Given the description of an element on the screen output the (x, y) to click on. 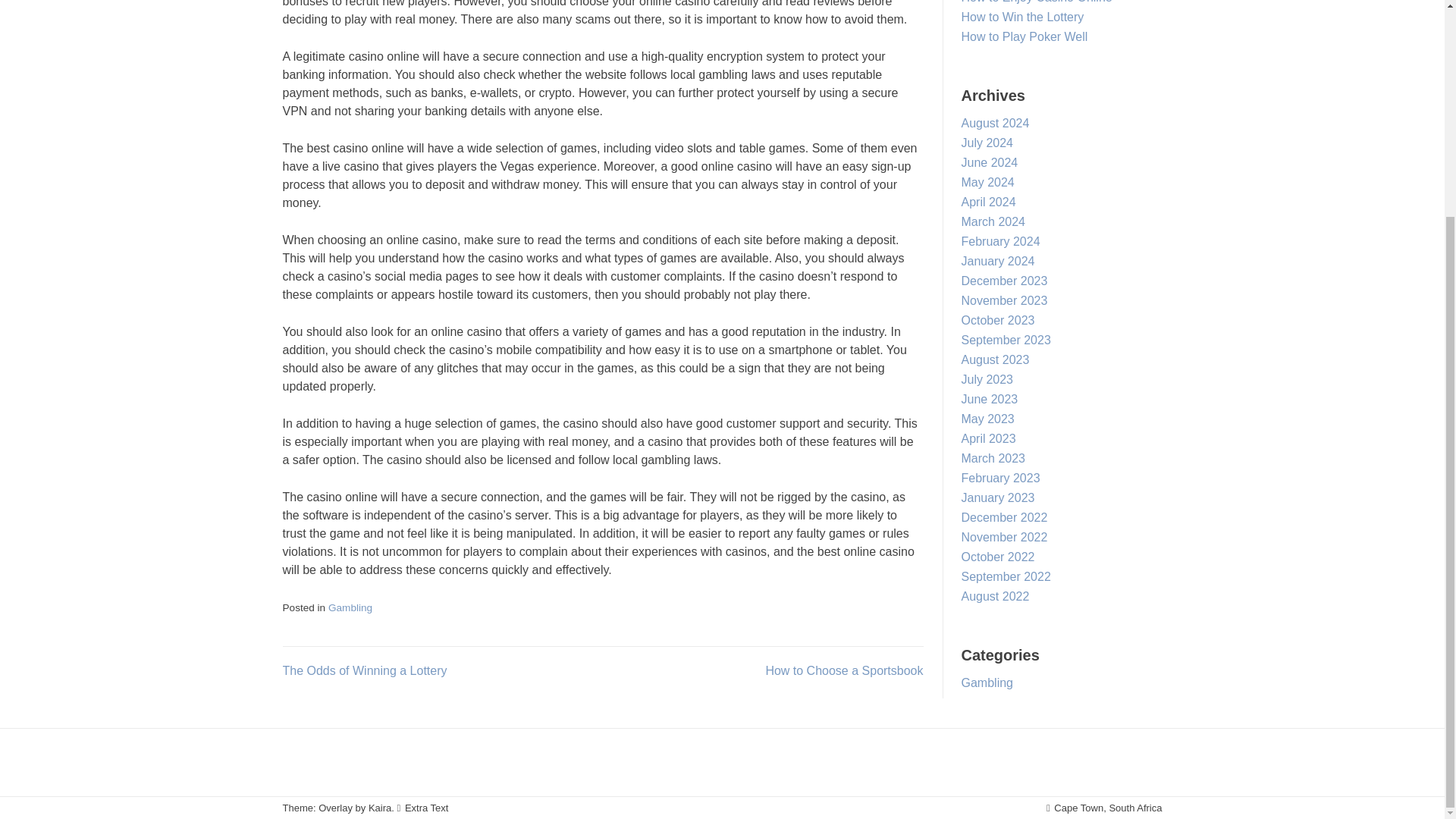
February 2024 (1000, 241)
February 2023 (1000, 477)
May 2024 (987, 182)
April 2023 (988, 438)
July 2024 (986, 142)
November 2023 (1004, 300)
November 2022 (1004, 536)
January 2024 (997, 260)
June 2023 (988, 399)
April 2024 (988, 201)
October 2022 (997, 556)
December 2023 (1004, 280)
December 2022 (1004, 517)
September 2022 (1005, 576)
May 2023 (987, 418)
